Given the description of an element on the screen output the (x, y) to click on. 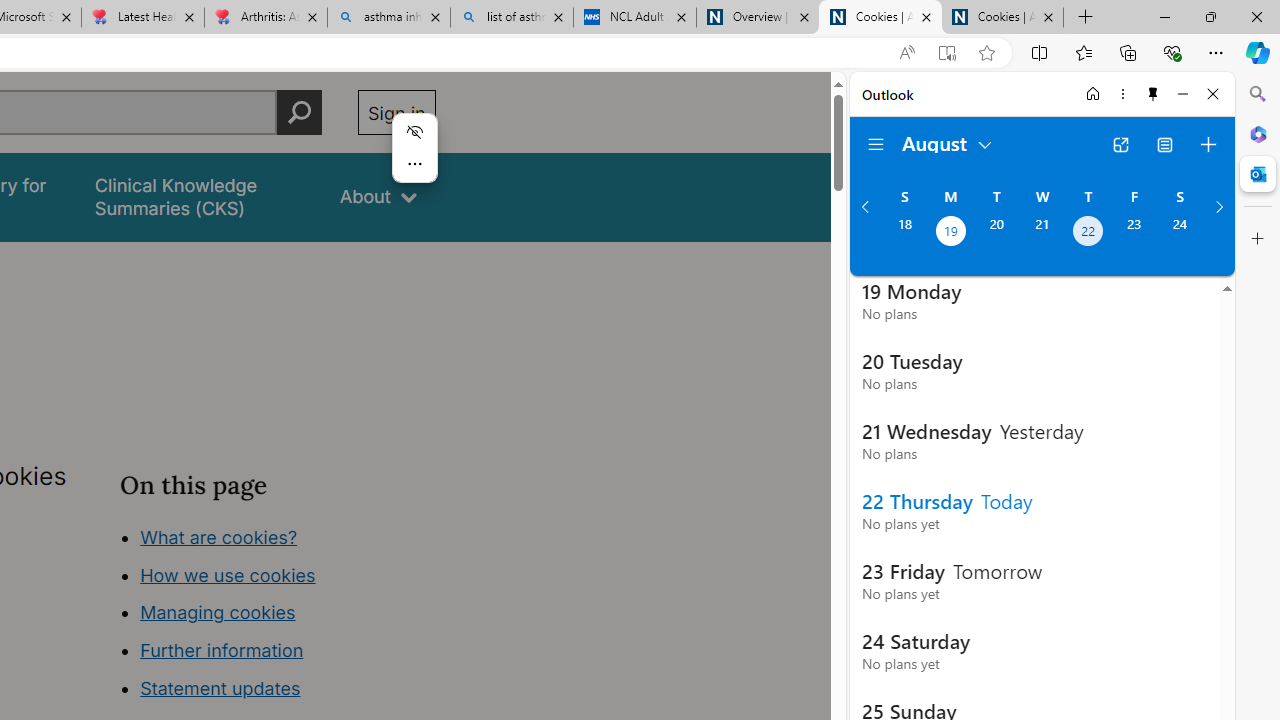
Cookies | About | NICE (1002, 17)
Statement updates (219, 688)
